Given the description of an element on the screen output the (x, y) to click on. 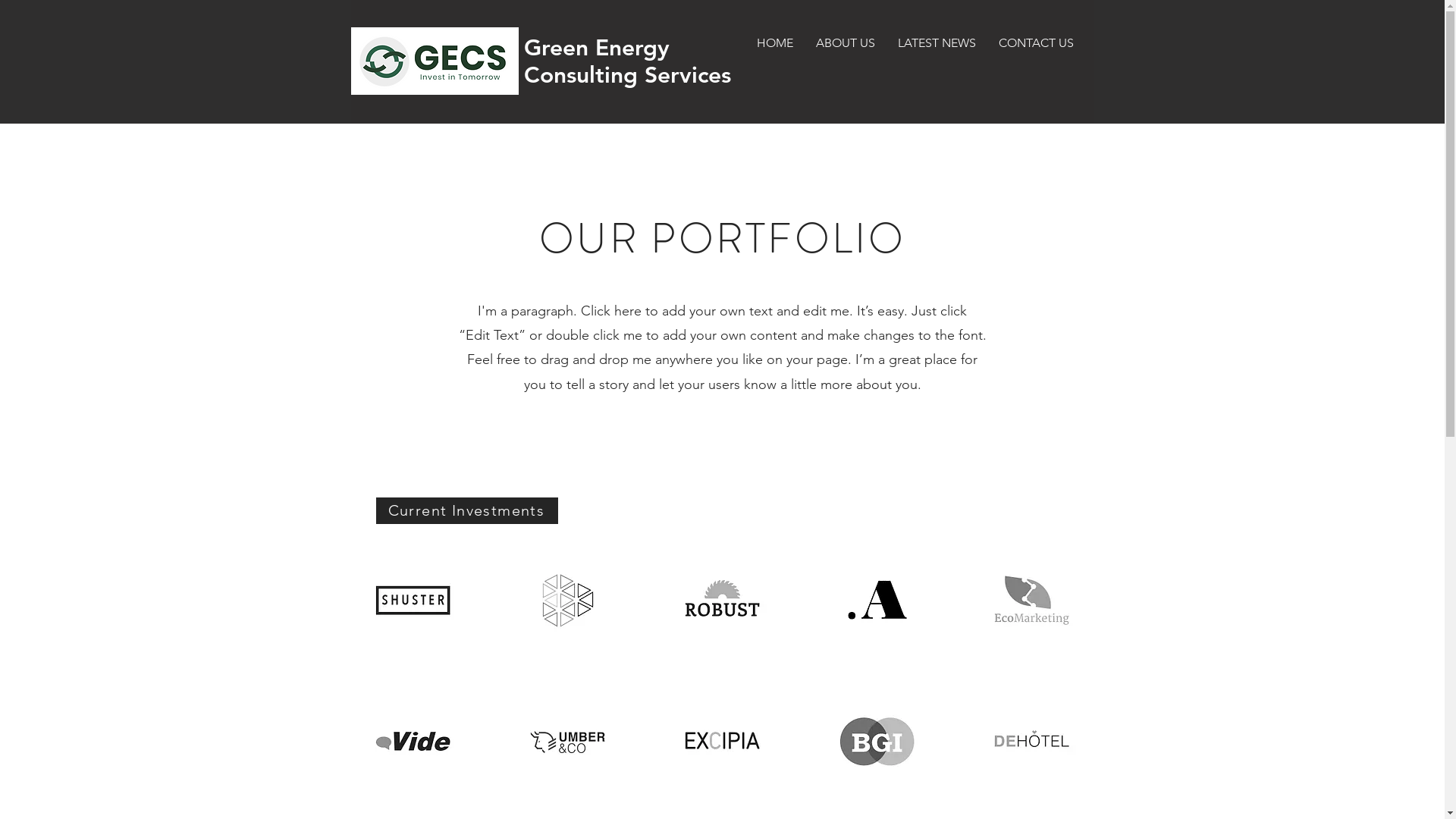
CONTACT US Element type: text (1036, 42)
ABOUT US Element type: text (844, 42)
LATEST NEWS Element type: text (935, 42)
HOME Element type: text (773, 42)
